Given the description of an element on the screen output the (x, y) to click on. 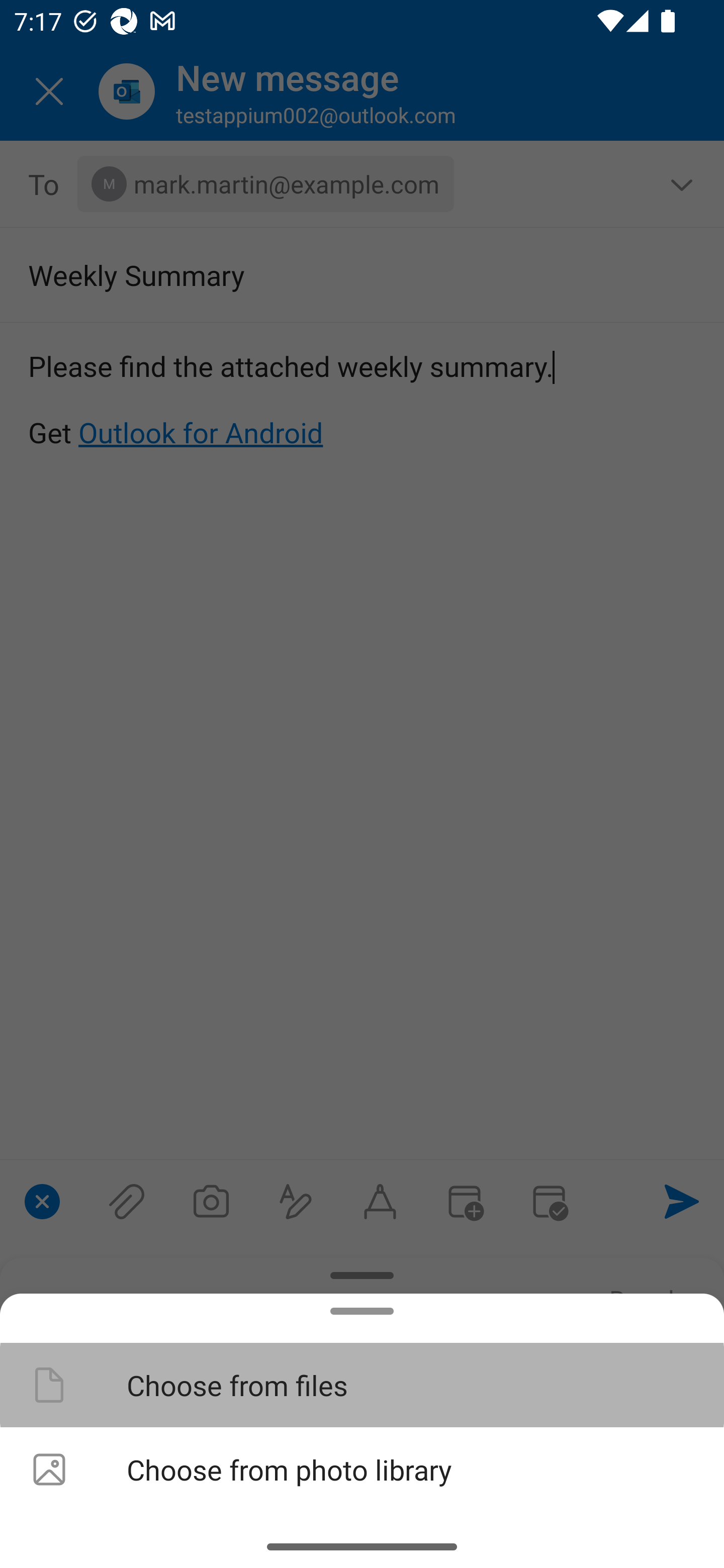
Choose from files (362, 1384)
Choose from photo library (362, 1468)
